Given the description of an element on the screen output the (x, y) to click on. 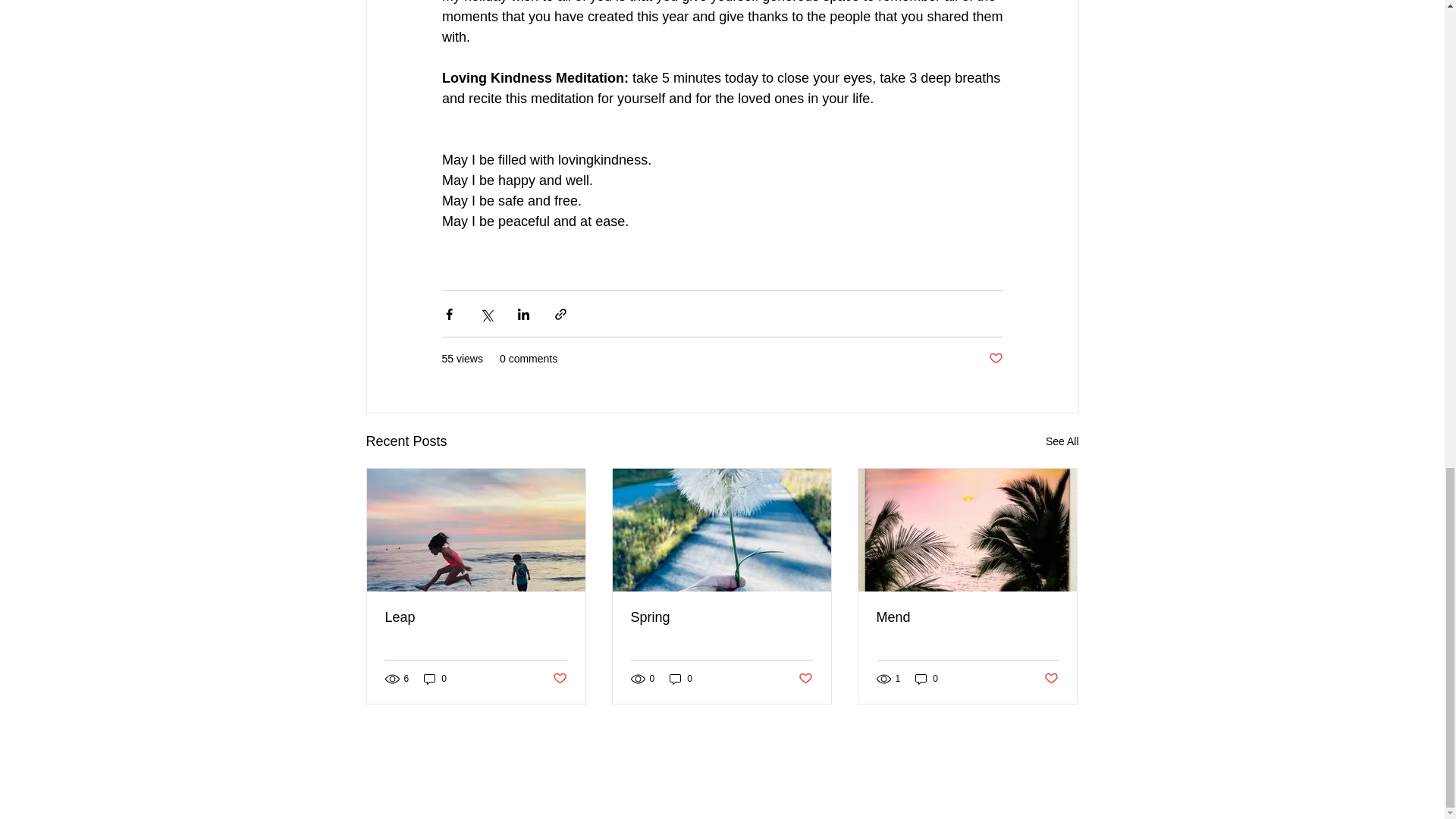
Post not marked as liked (804, 678)
See All (1061, 441)
Spring (721, 617)
Mend (967, 617)
0 (435, 678)
Leap (476, 617)
0 (681, 678)
Post not marked as liked (995, 358)
Post not marked as liked (558, 678)
Post not marked as liked (1050, 678)
